Given the description of an element on the screen output the (x, y) to click on. 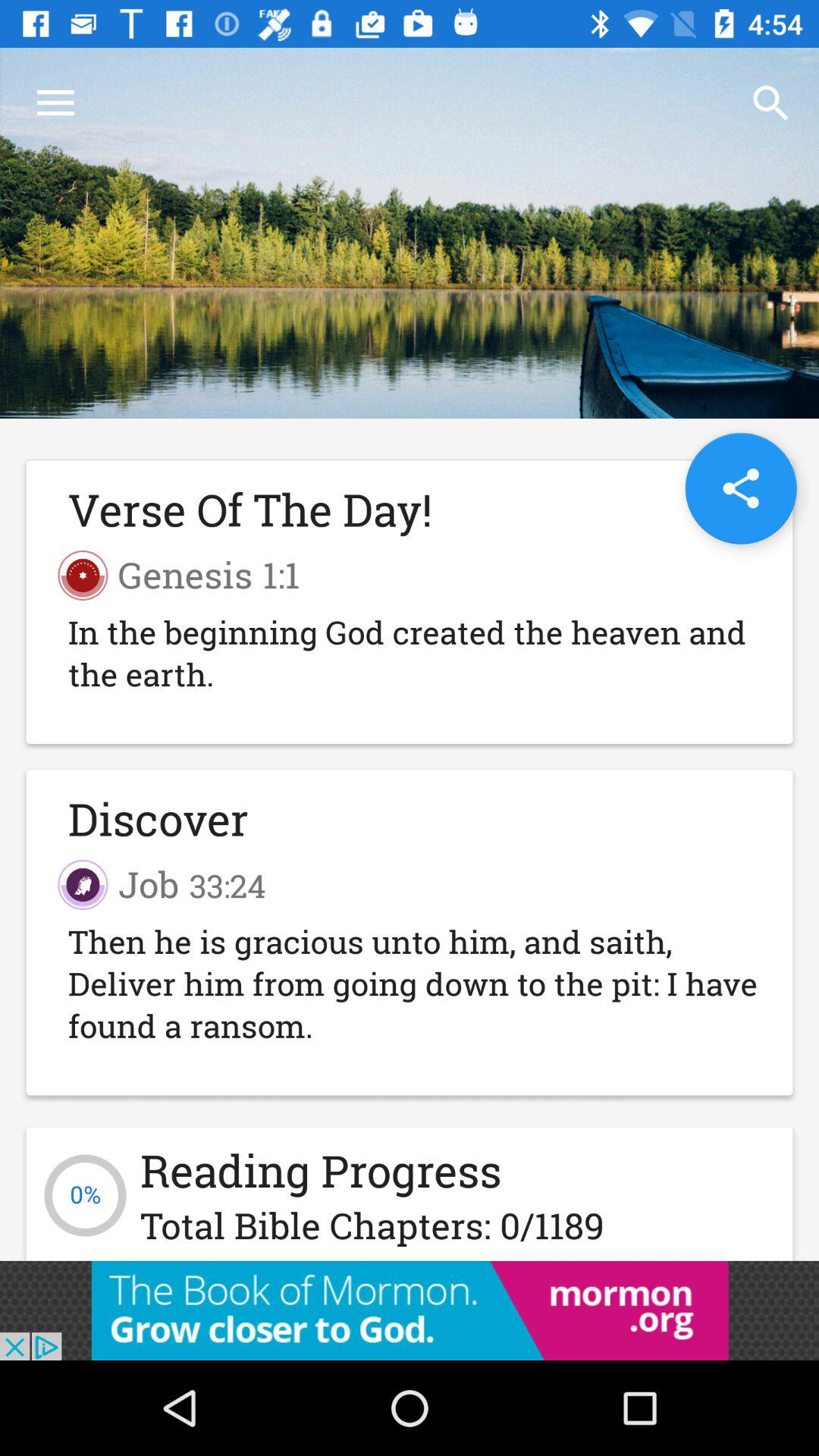
see advertisement (409, 1310)
